Given the description of an element on the screen output the (x, y) to click on. 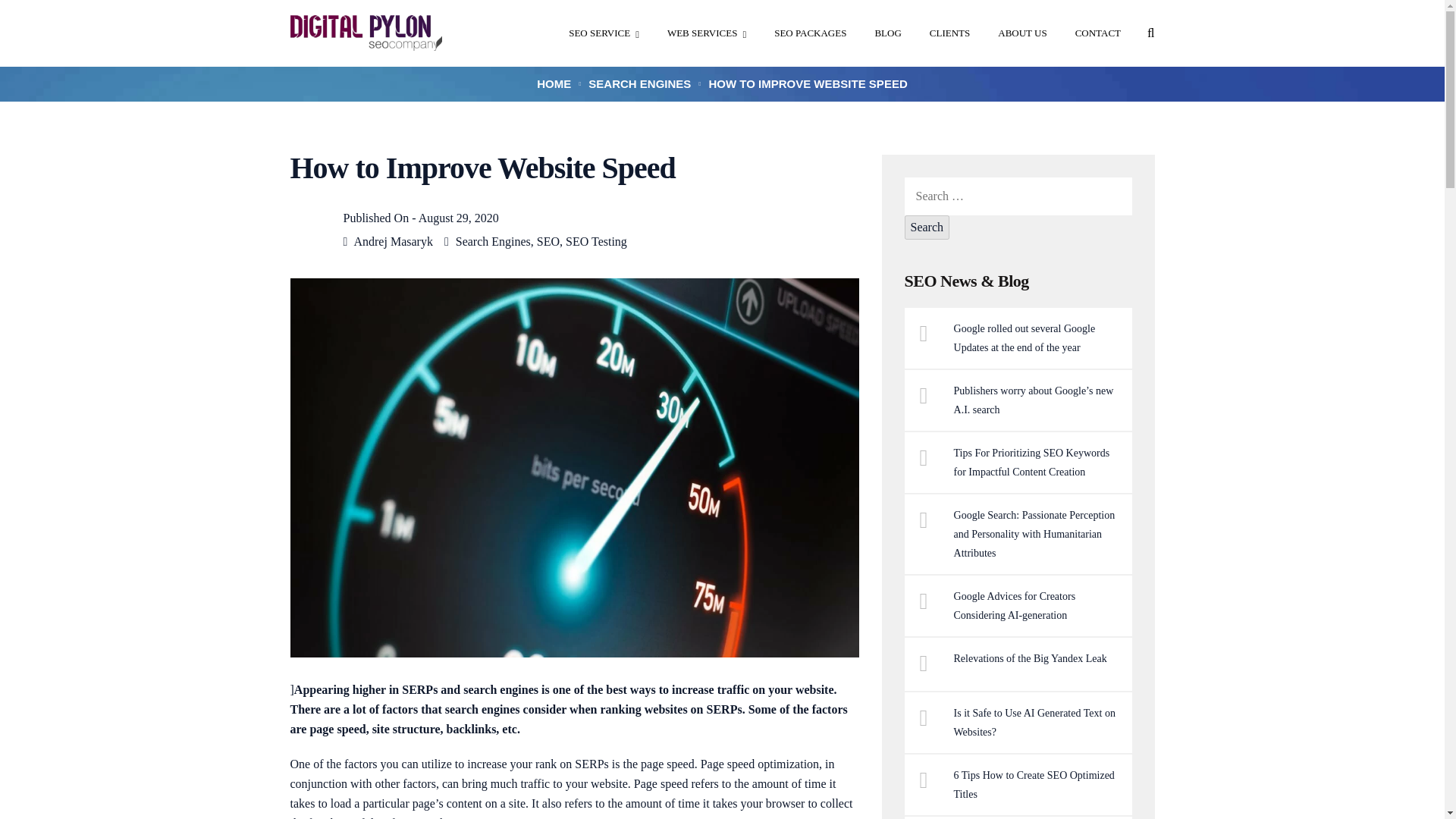
Search (927, 227)
SEO PACKAGES (809, 33)
WEB SERVICES (705, 33)
HOME (553, 83)
SEO SERVICE (604, 33)
Search (927, 227)
